Given the description of an element on the screen output the (x, y) to click on. 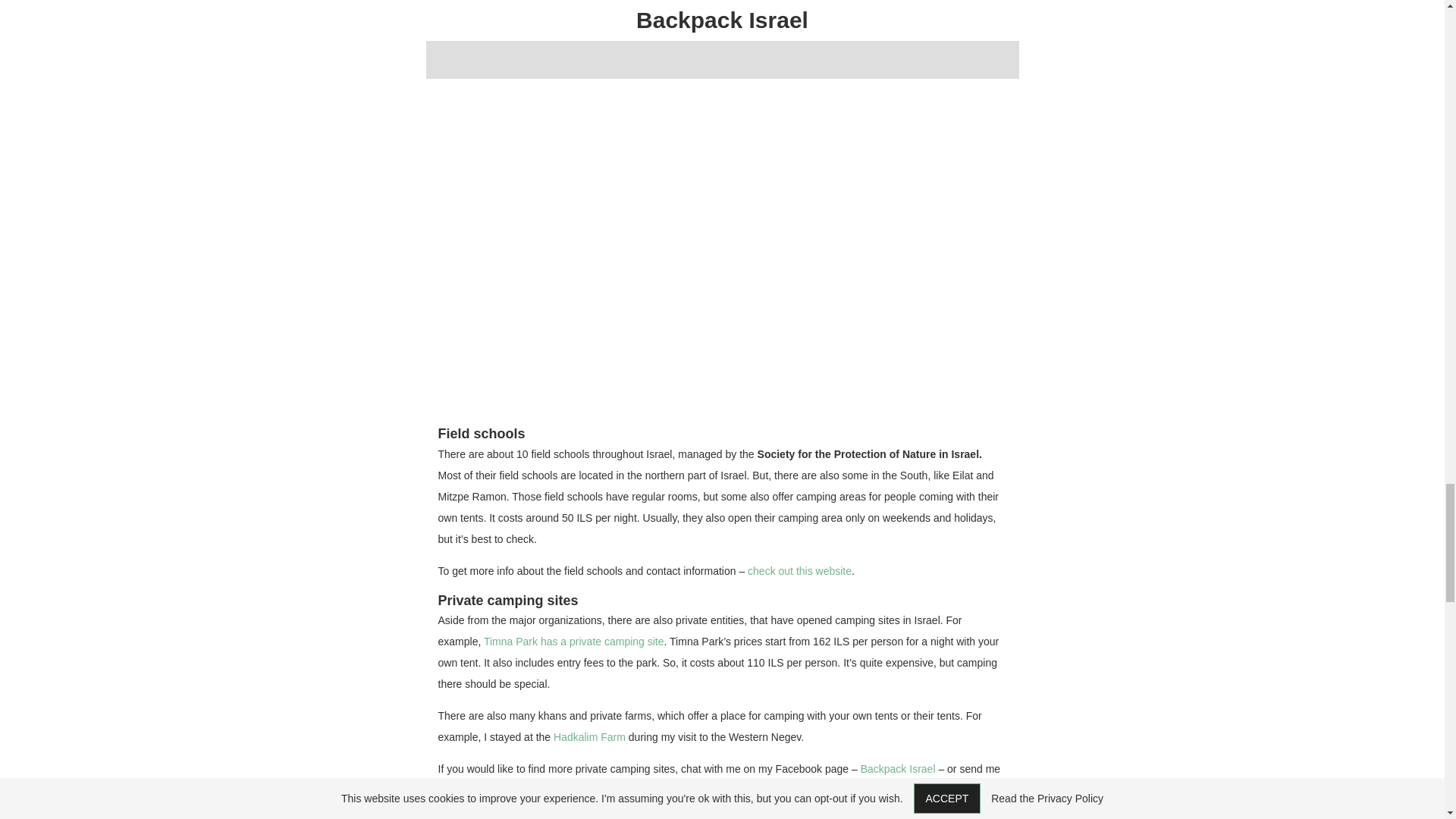
Timna Park has a private camping site (573, 641)
Backpack Israel (898, 768)
Hadkalim Farm (589, 736)
check out this website (799, 571)
